Given the description of an element on the screen output the (x, y) to click on. 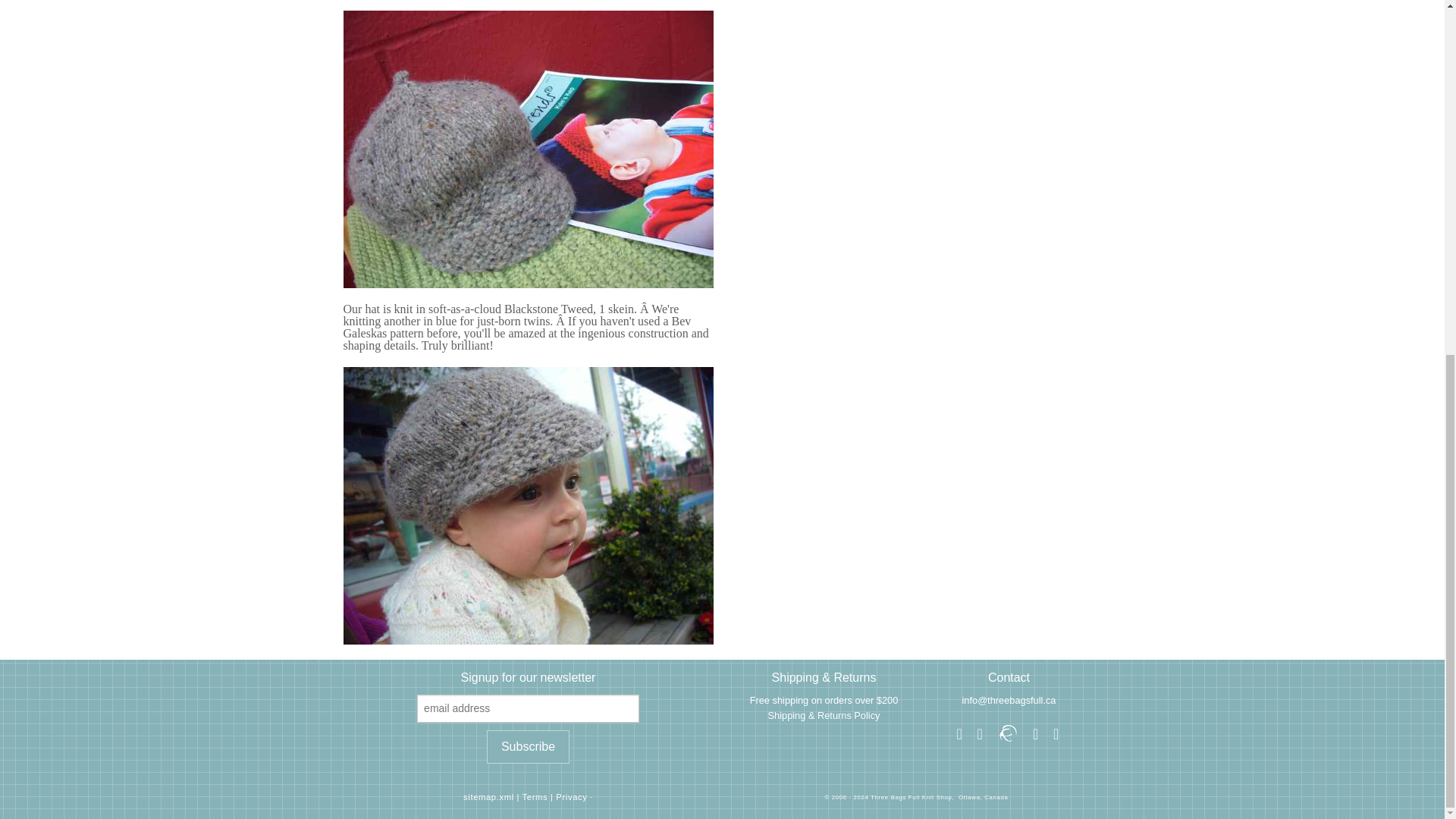
zeezee1 (527, 505)
Kyle's Kap1 (527, 149)
Subscribe (527, 746)
Subscribe (527, 746)
